Given the description of an element on the screen output the (x, y) to click on. 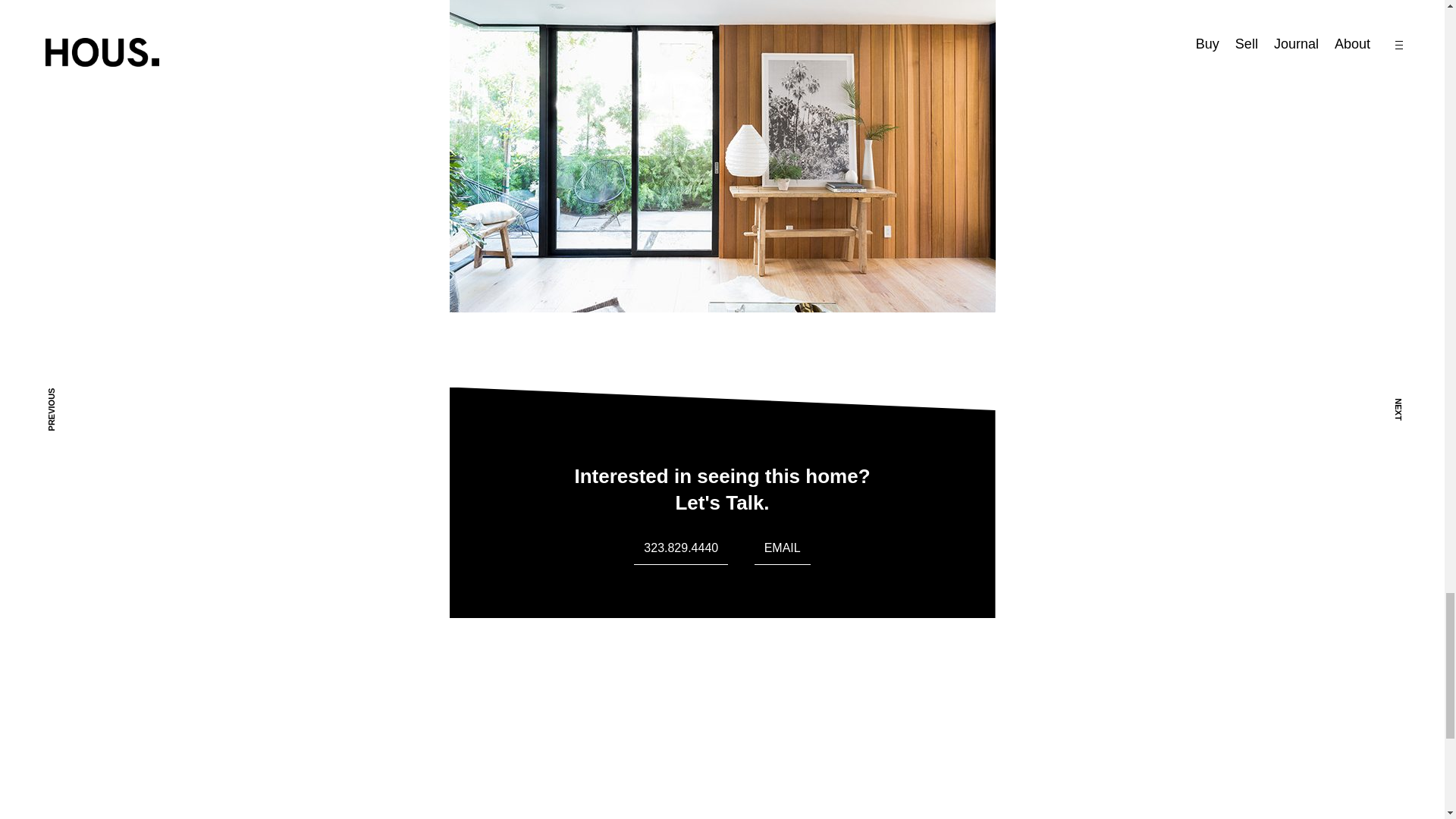
323.829.4440 (680, 548)
EMAIL (782, 548)
